Given the description of an element on the screen output the (x, y) to click on. 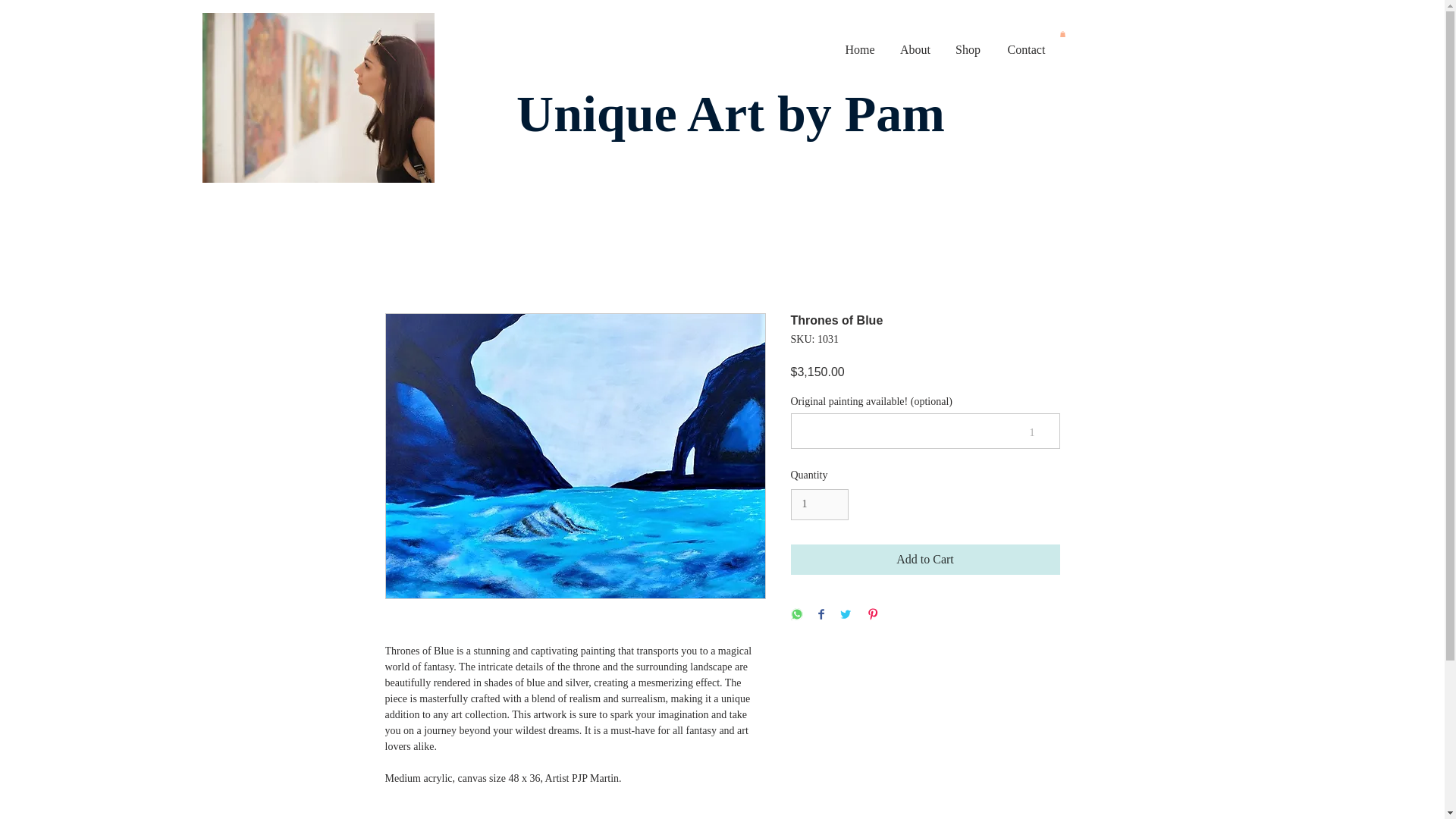
Home (860, 49)
Contact (1025, 49)
Shop (967, 49)
1 (818, 504)
Add to Cart (924, 559)
Unique (596, 113)
About (914, 49)
